Given the description of an element on the screen output the (x, y) to click on. 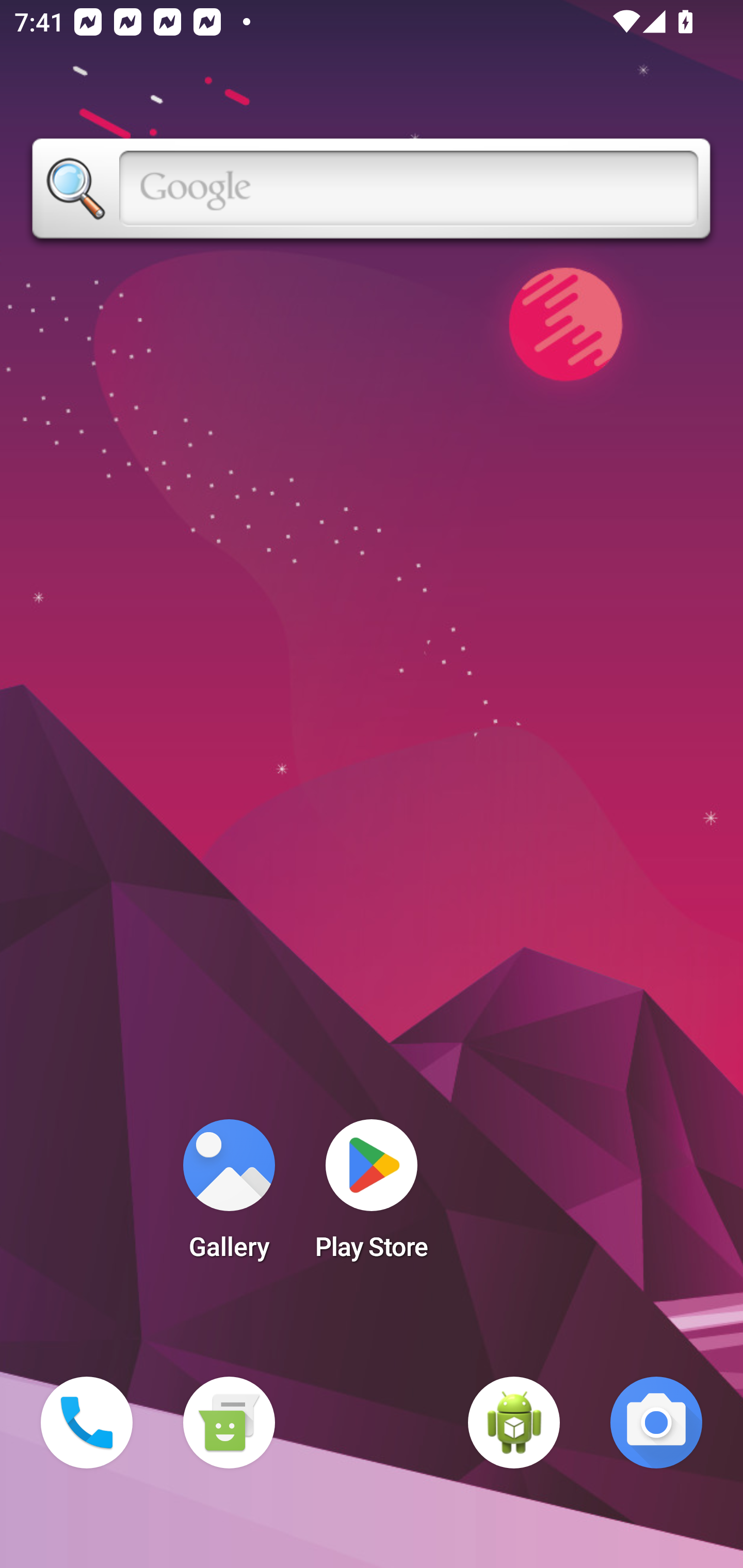
Gallery (228, 1195)
Play Store (371, 1195)
Phone (86, 1422)
Messaging (228, 1422)
WebView Browser Tester (513, 1422)
Camera (656, 1422)
